Given the description of an element on the screen output the (x, y) to click on. 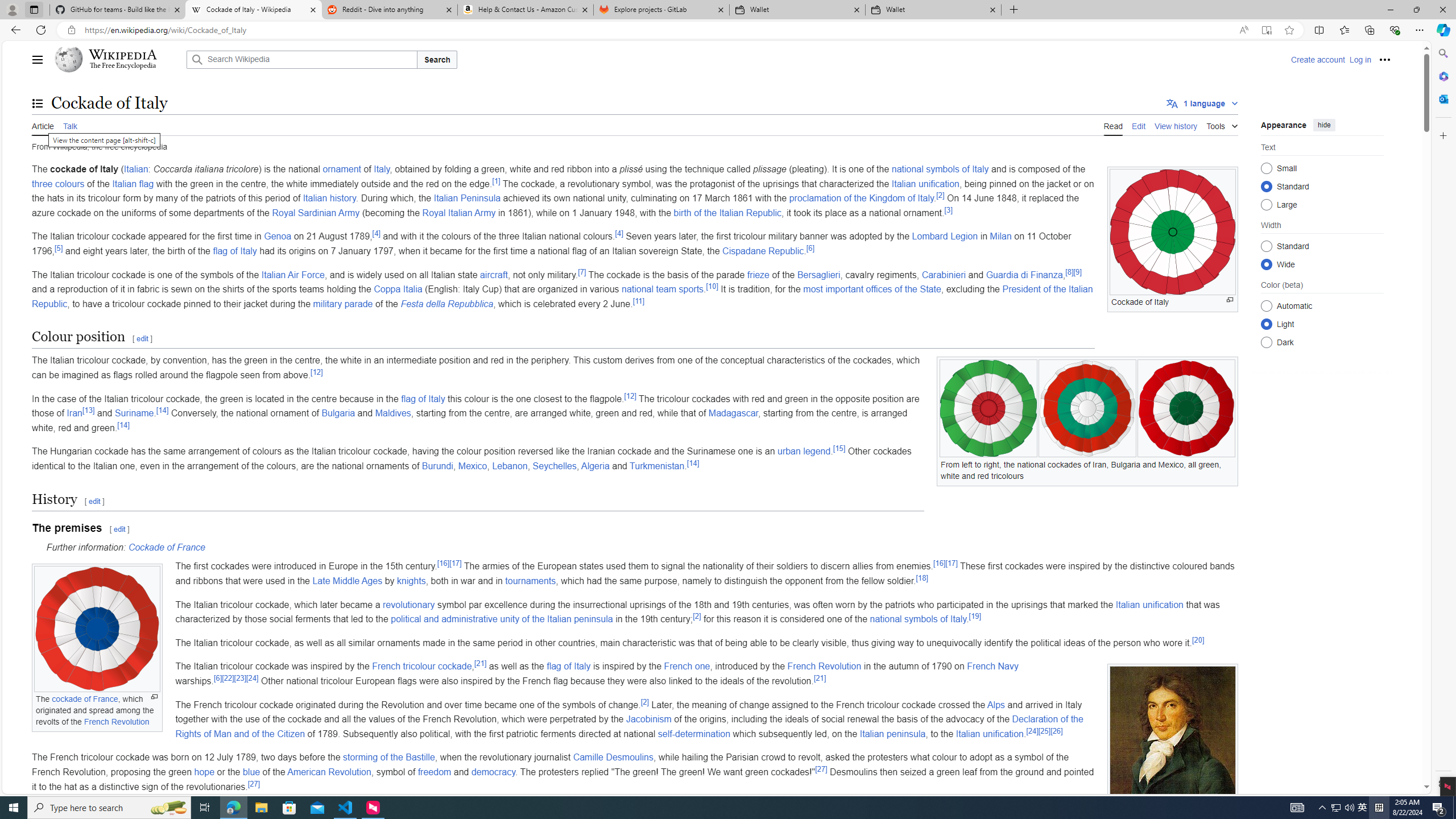
[18] (921, 577)
Read (1112, 124)
national team sports (662, 289)
Suriname (134, 413)
Article (42, 124)
Wide (1266, 263)
blue (250, 771)
Mexico (472, 466)
urban legend (804, 451)
Toggle the table of contents (37, 103)
French Navy (992, 666)
Burundi (436, 466)
